Given the description of an element on the screen output the (x, y) to click on. 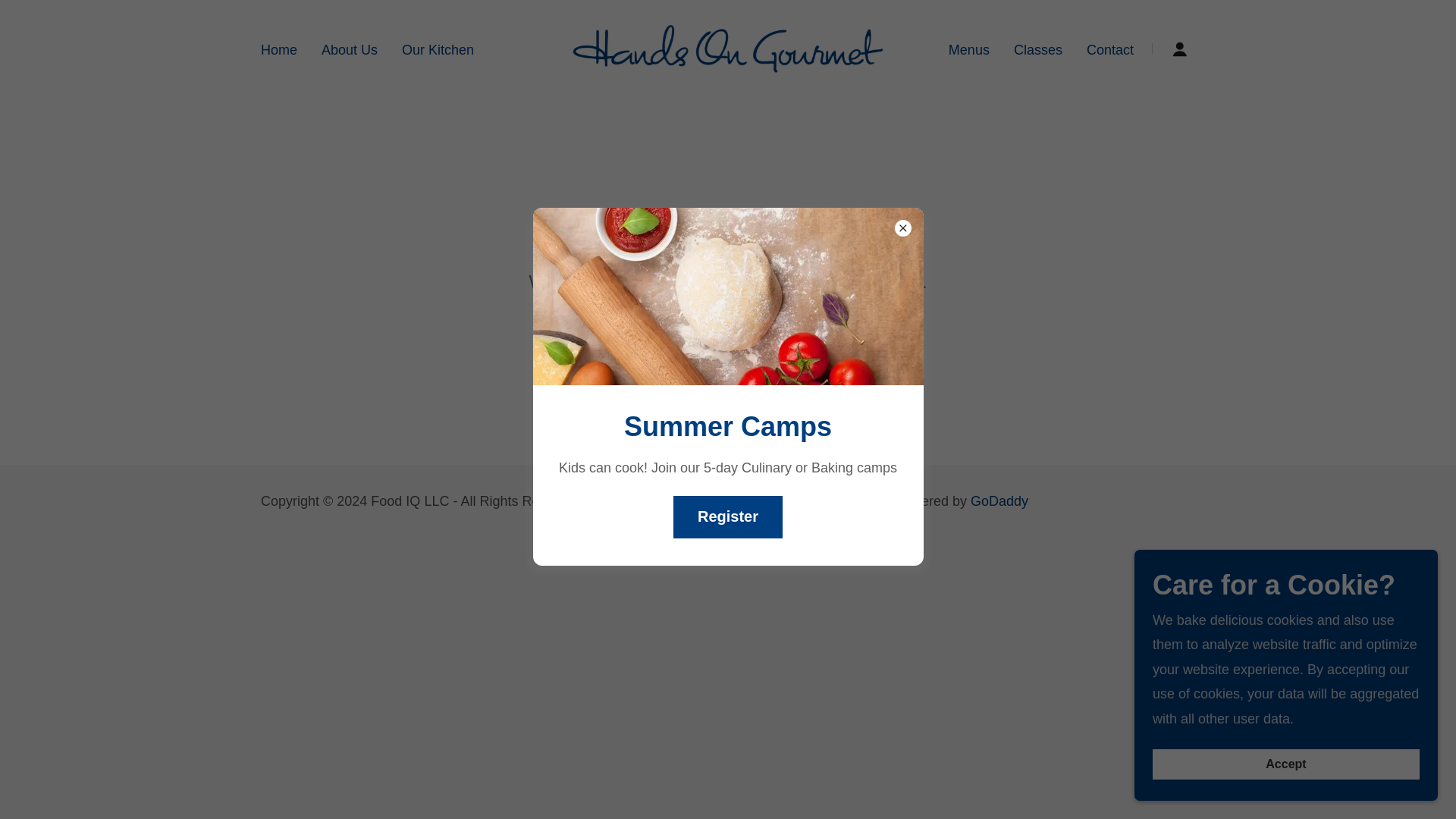
Classes (1038, 49)
Our Kitchen (438, 49)
About Us (349, 49)
Hands On Gourmet (727, 47)
Menus (968, 49)
Contact (1109, 49)
Home (278, 49)
